Given the description of an element on the screen output the (x, y) to click on. 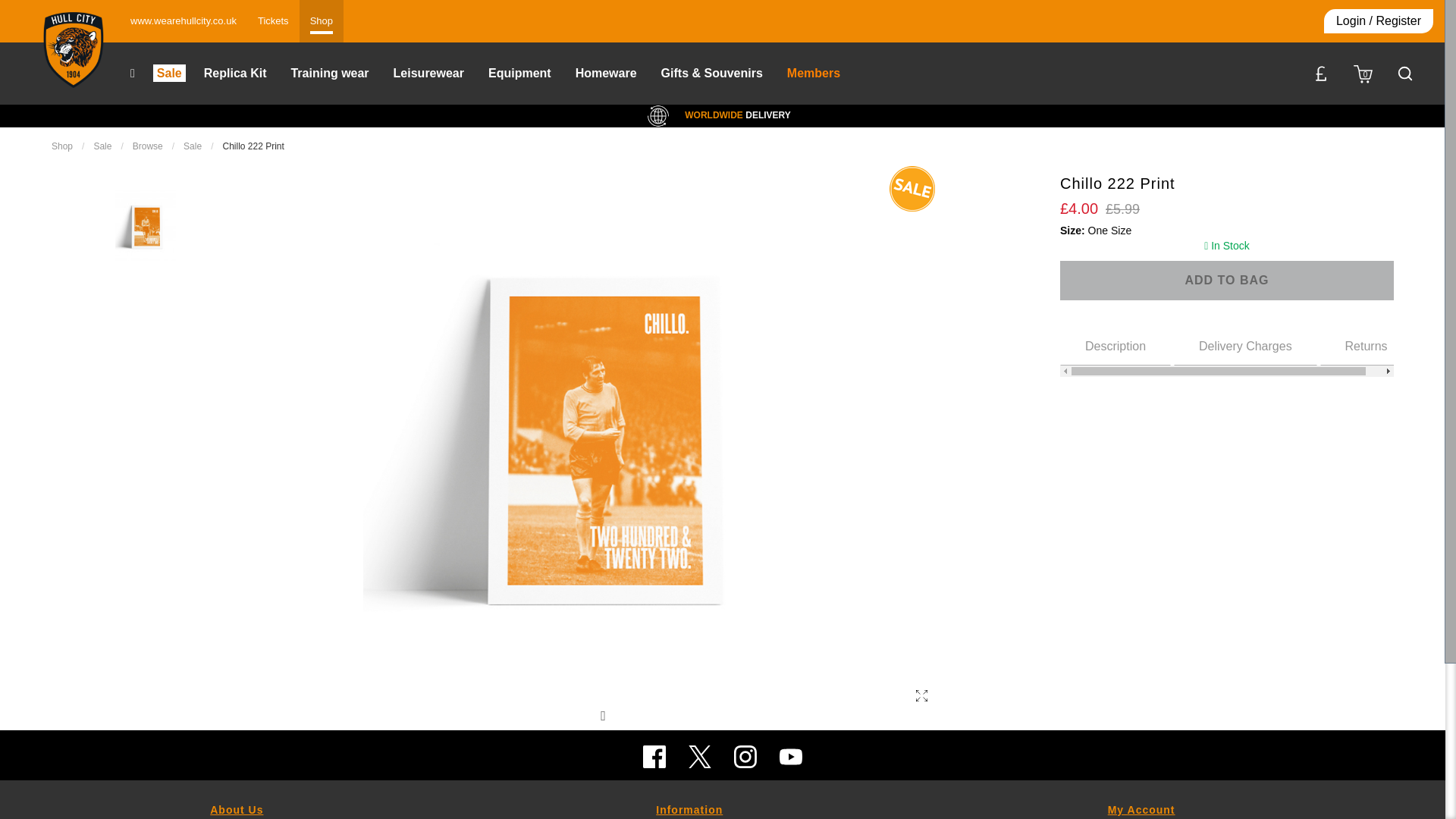
Share on Twitter (578, 715)
Shopping Bag (1363, 72)
Share via Email (636, 715)
Search (1404, 73)
Share on Facebook (548, 715)
Delivery Charges (1245, 344)
Description (1114, 344)
Select Currency (1226, 350)
Share on Pinterest (1321, 73)
Add to Bag (606, 715)
Returns (1226, 280)
